Given the description of an element on the screen output the (x, y) to click on. 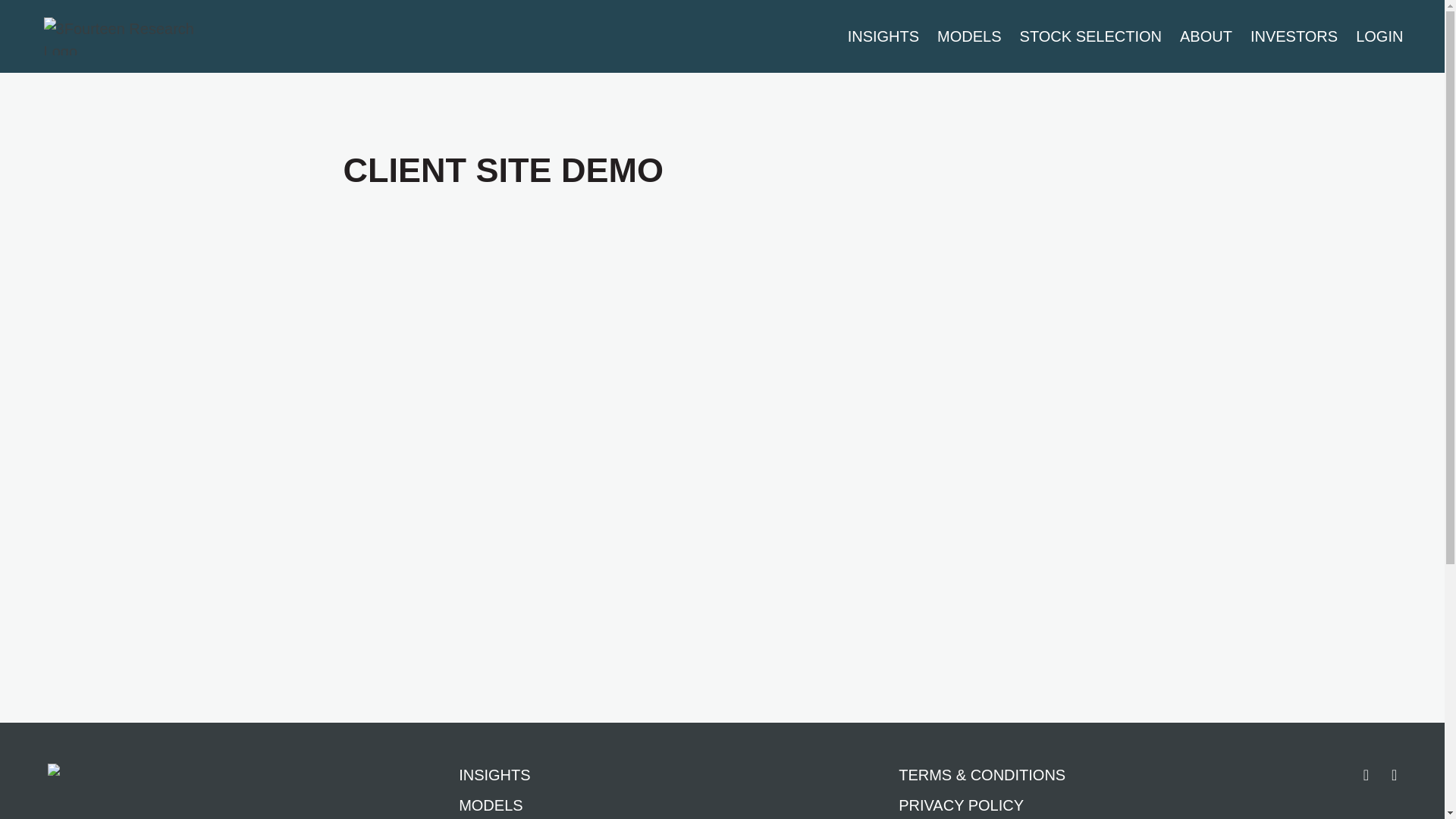
LOGIN Element type: text (1379, 35)
INSIGHTS Element type: text (529, 773)
PRIVACY POLICY Element type: text (981, 804)
STOCK SELECTION Element type: text (1090, 35)
3FR Client Site Demo Element type: hover (721, 432)
TERMS & CONDITIONS Element type: text (981, 773)
INVESTORS Element type: text (1293, 35)
INSIGHTS Element type: text (883, 35)
ABOUT Element type: text (1205, 35)
